Given the description of an element on the screen output the (x, y) to click on. 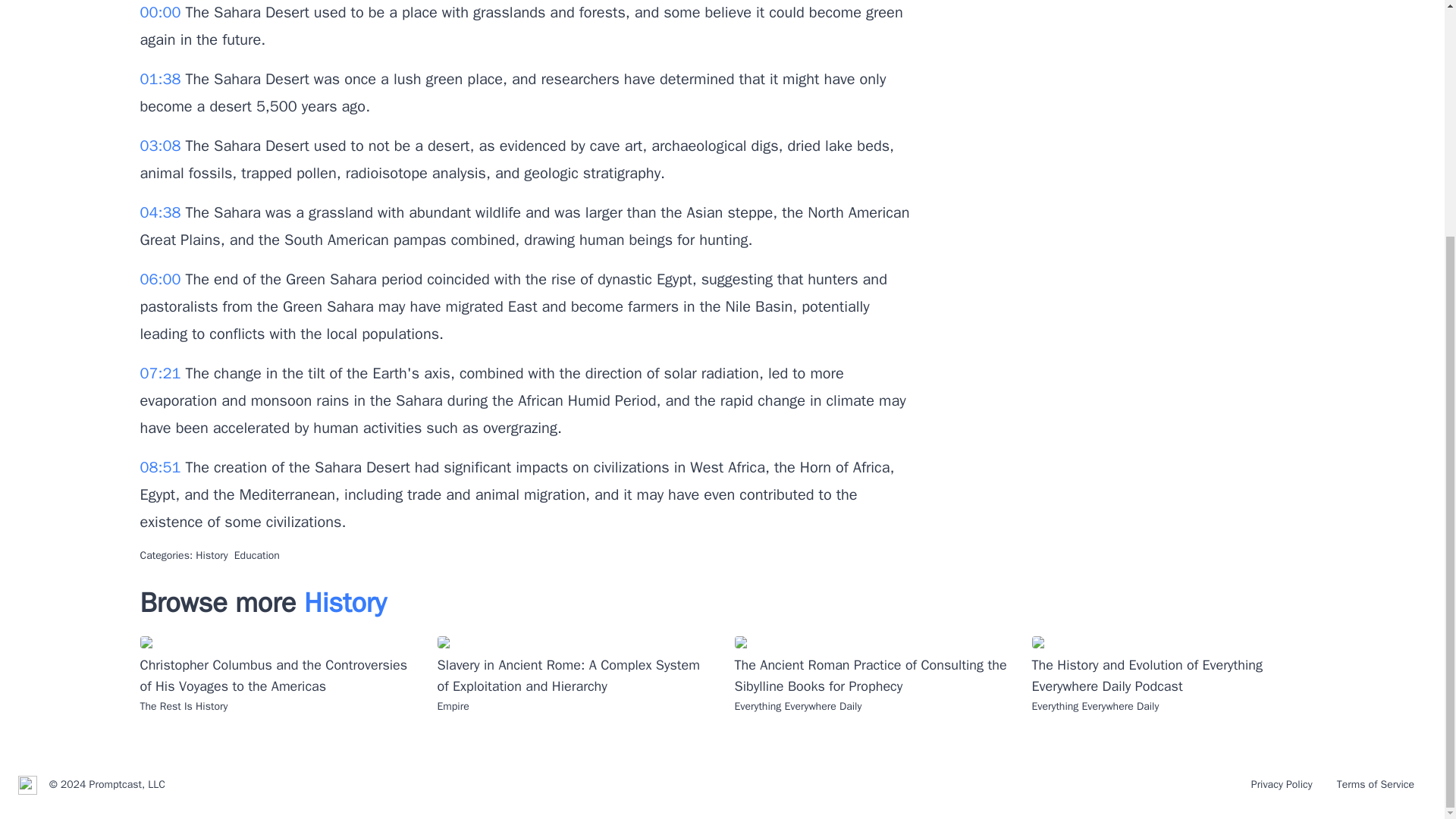
01:38 (161, 78)
Terms of Service (1375, 784)
Education (256, 554)
History (345, 602)
History (211, 554)
Privacy Policy (1281, 784)
00:00 (161, 12)
